Given the description of an element on the screen output the (x, y) to click on. 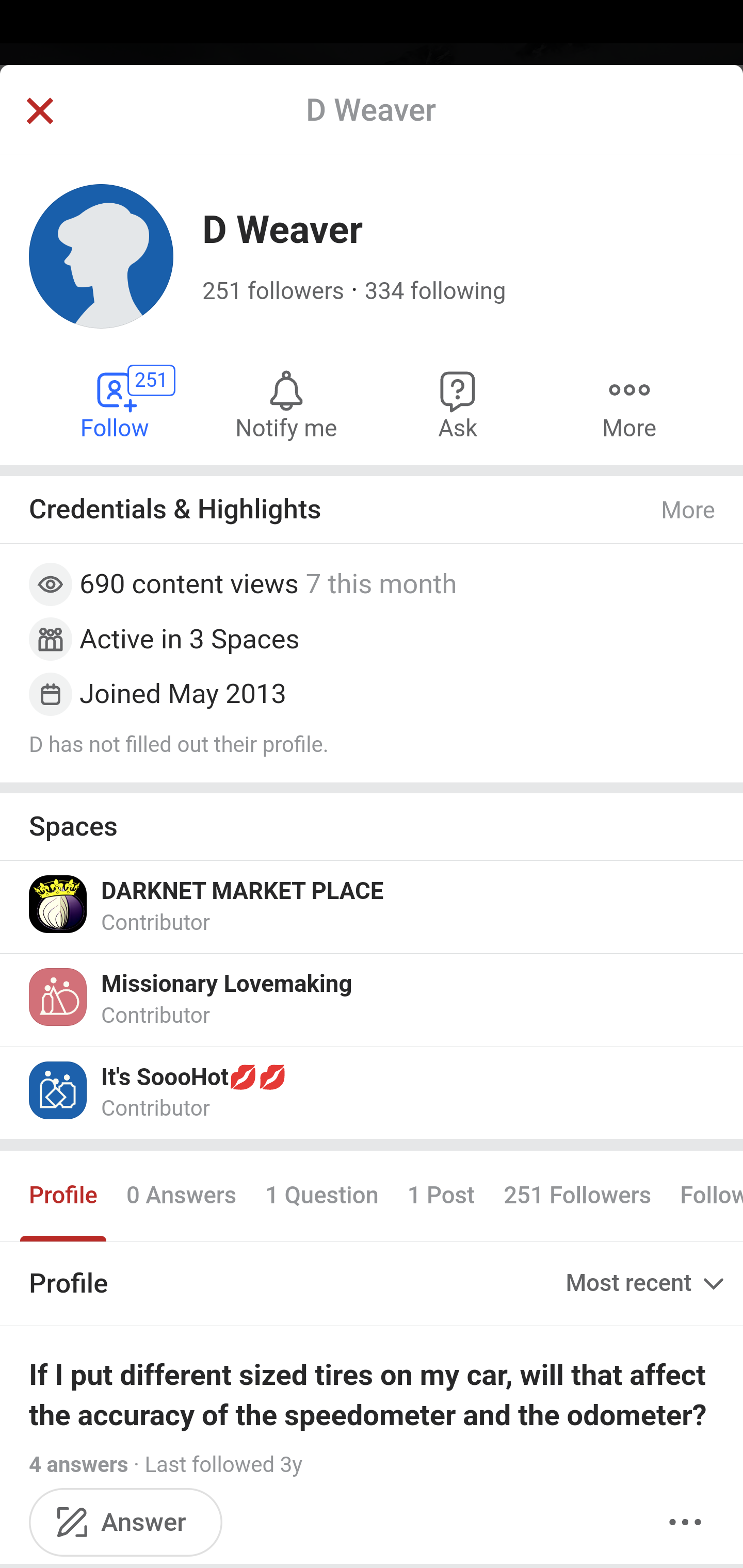
 (39, 112)
251 followers (273, 291)
334 following (434, 291)
Follow D Weaver 251 Follow (115, 404)
Notify me (285, 404)
Ask (458, 404)
More (628, 404)
More (688, 510)
Icon for DARKNET MARKET PLACE (58, 903)
DARKNET MARKET PLACE (242, 891)
Icon for Missionary Lovemaking (58, 997)
Missionary Lovemaking (227, 984)
Icon for It's SoooHot💋💋 (58, 1089)
It's SoooHot💋💋 (195, 1077)
Profile (63, 1195)
0 Answers (180, 1195)
1 Question (320, 1195)
1 Post (441, 1195)
251 Followers (576, 1195)
Most recent (647, 1283)
4 answers 4  answers (79, 1464)
Answer (125, 1522)
More (684, 1522)
